Given the description of an element on the screen output the (x, y) to click on. 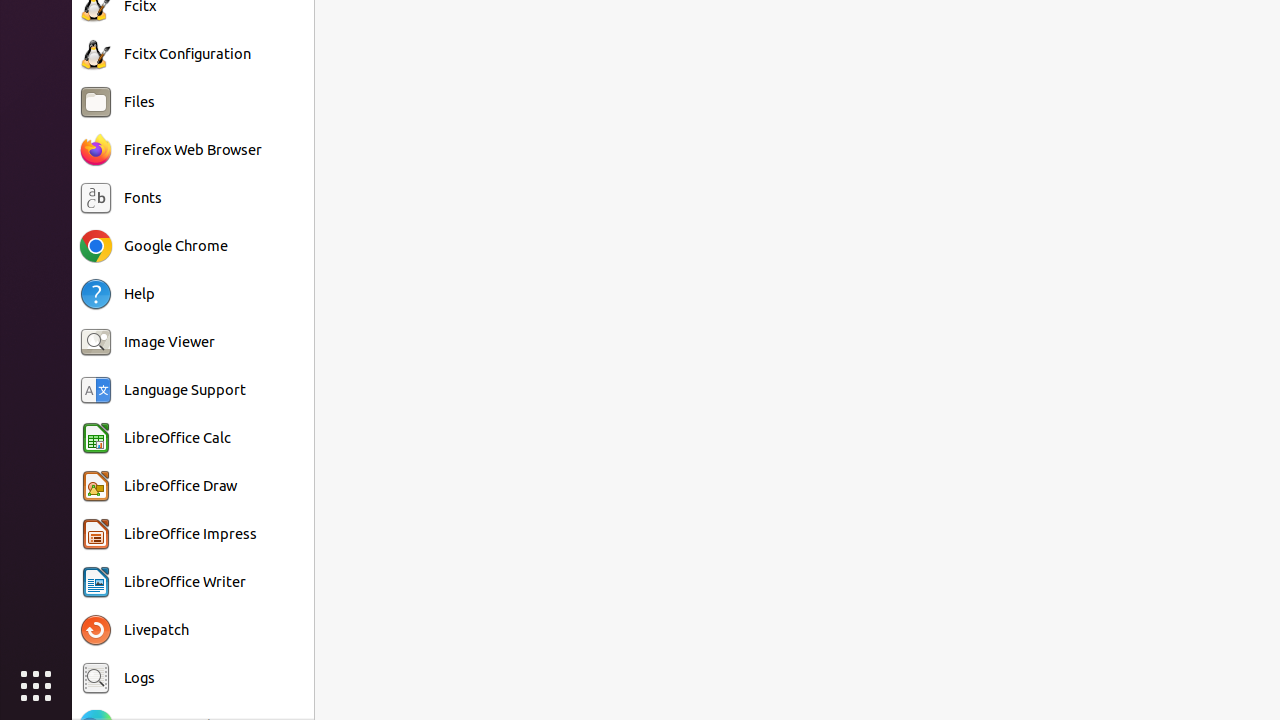
Image Viewer Element type: label (169, 342)
Google Chrome Element type: label (176, 245)
LibreOffice Draw Element type: label (180, 486)
